Given the description of an element on the screen output the (x, y) to click on. 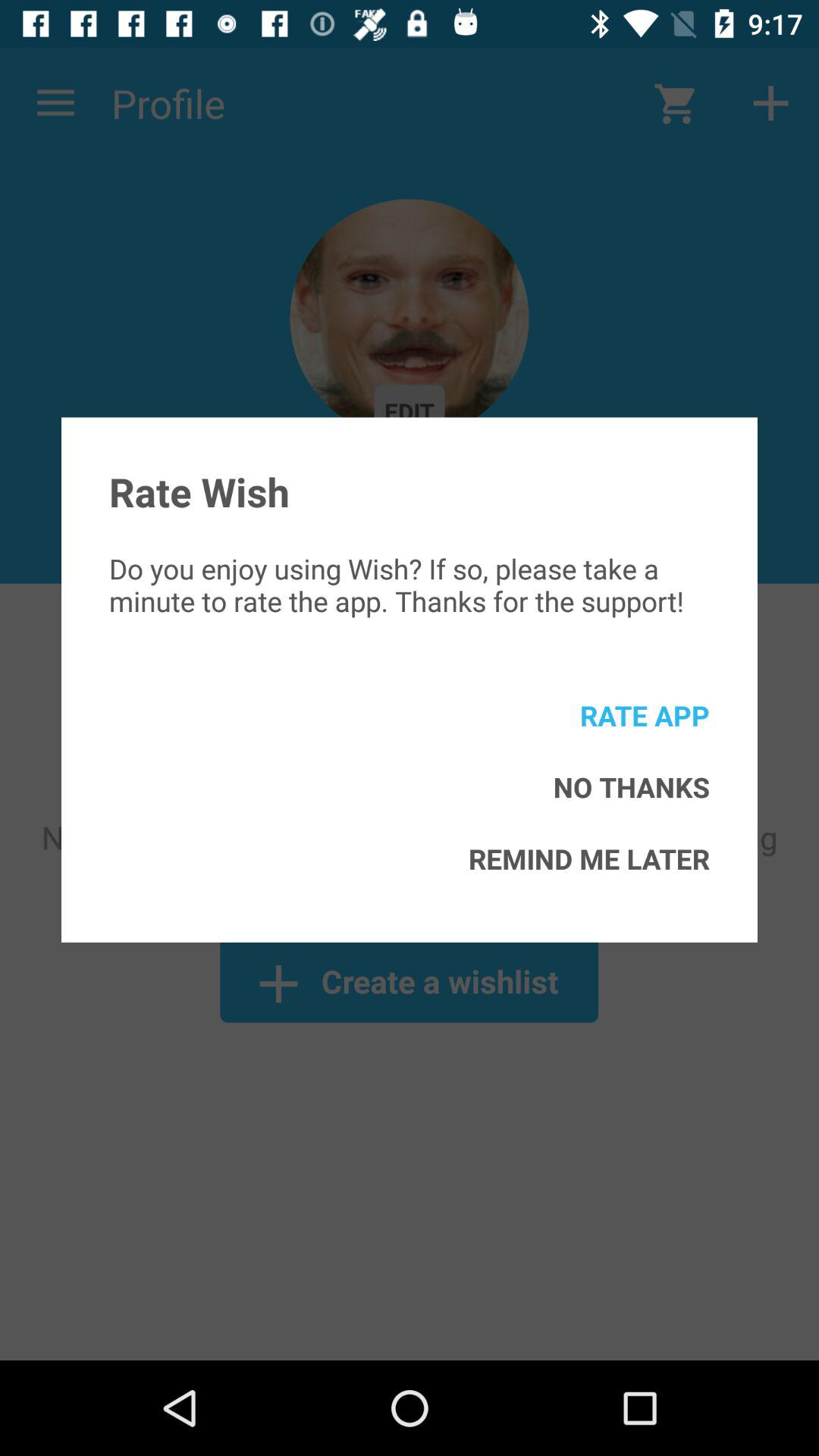
tap icon below the no thanks item (588, 858)
